Given the description of an element on the screen output the (x, y) to click on. 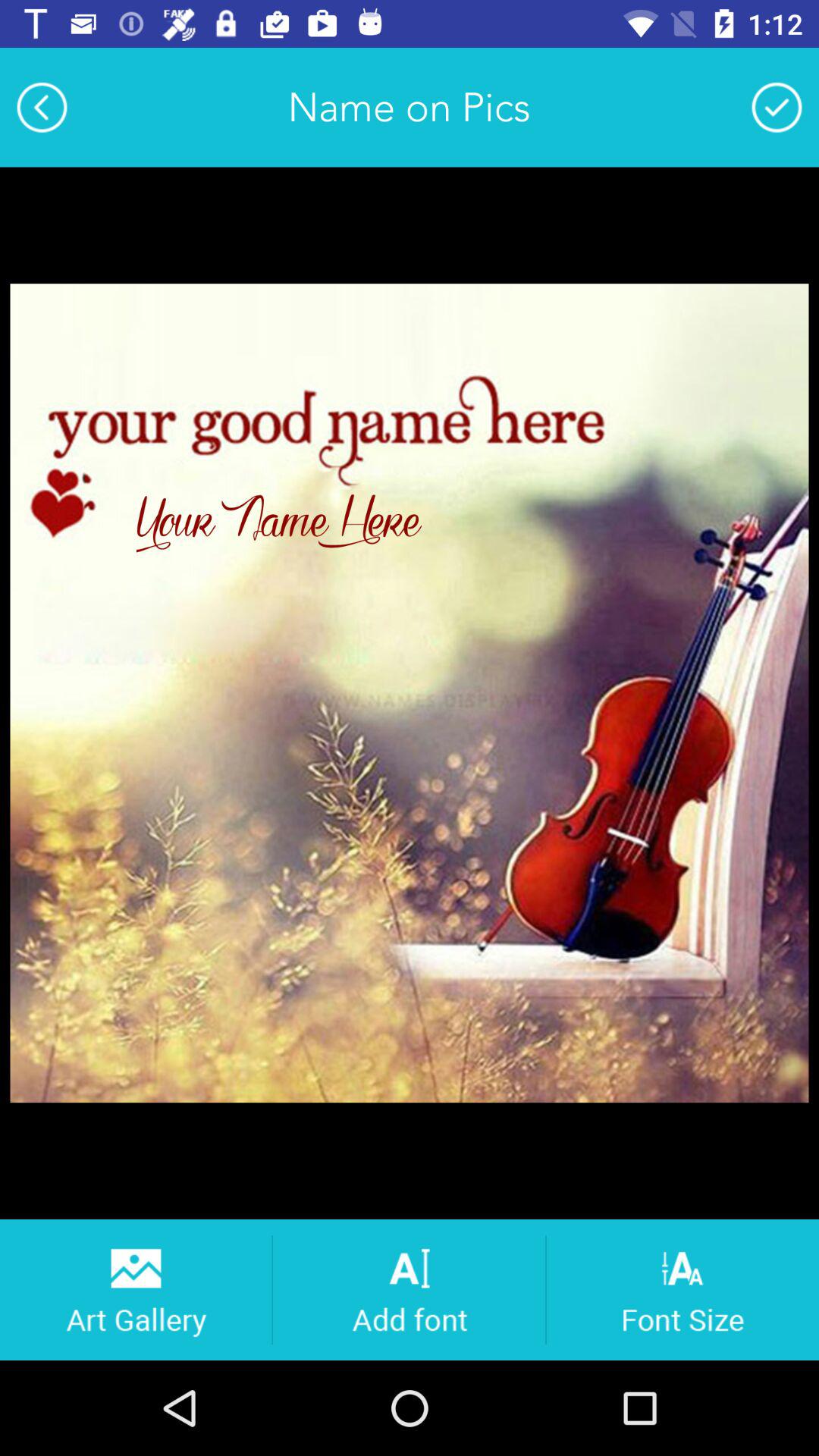
tap item next to name on pics item (41, 107)
